Given the description of an element on the screen output the (x, y) to click on. 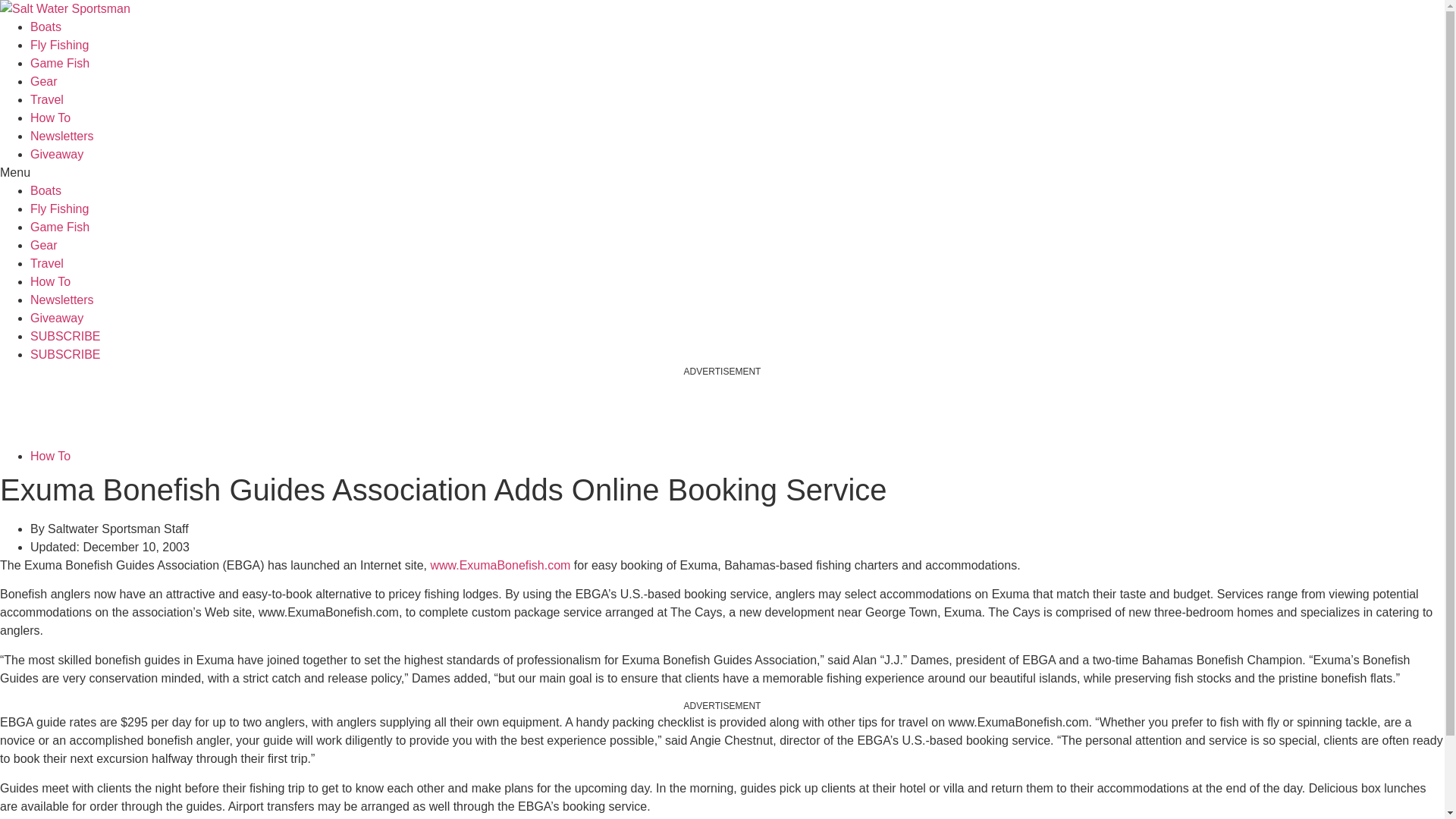
Travel (47, 99)
Boats (45, 26)
Gear (44, 81)
Boats (45, 190)
How To (49, 117)
Giveaway (56, 154)
Game Fish (59, 62)
Newsletters (62, 135)
Fly Fishing (59, 208)
Fly Fishing (59, 44)
